Given the description of an element on the screen output the (x, y) to click on. 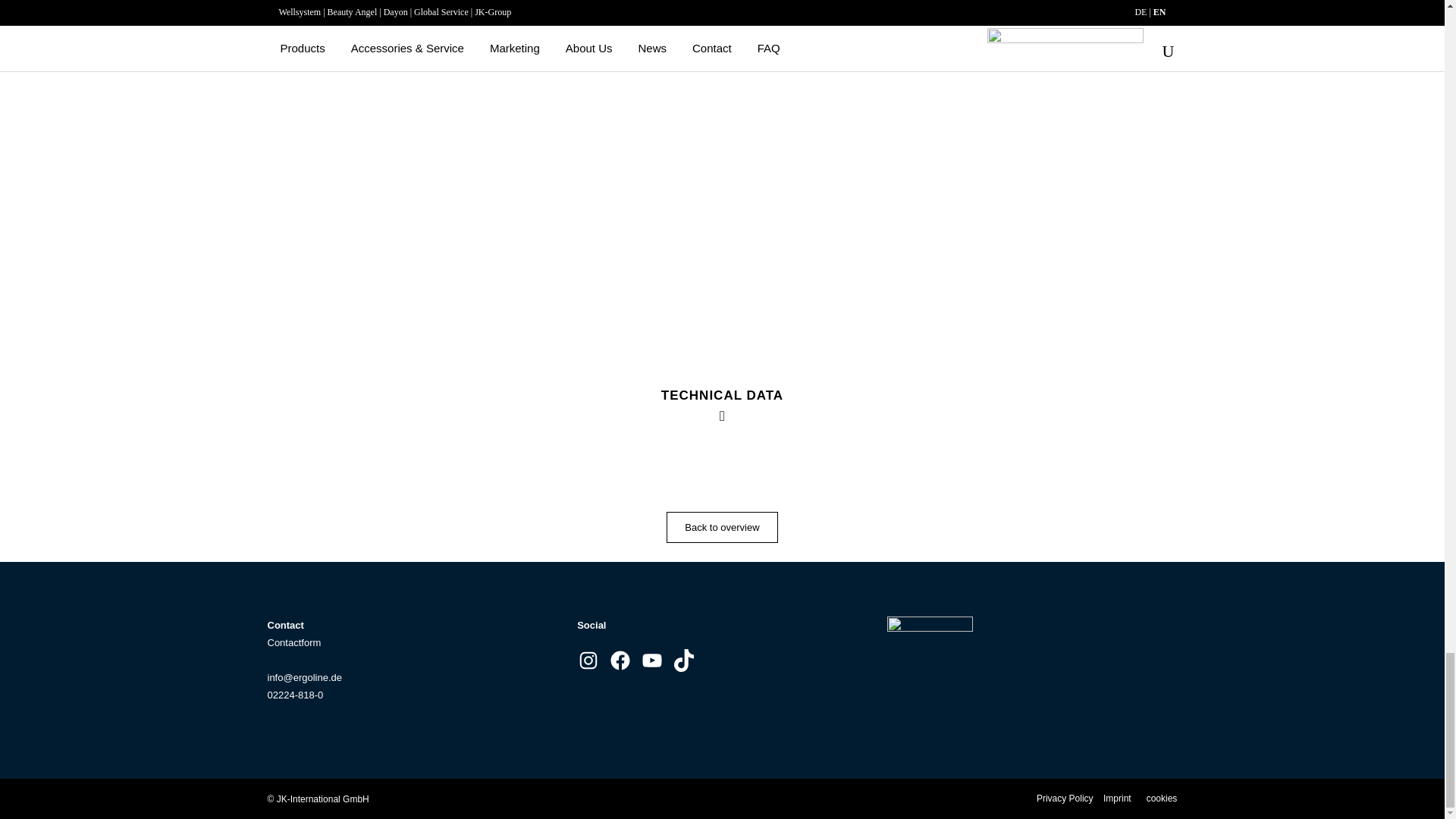
Contactform (293, 642)
TikTok (683, 660)
Instagram (587, 660)
Facebook (619, 660)
Back to overview (721, 526)
YouTube (651, 660)
Privacy Policy (1064, 798)
